Given the description of an element on the screen output the (x, y) to click on. 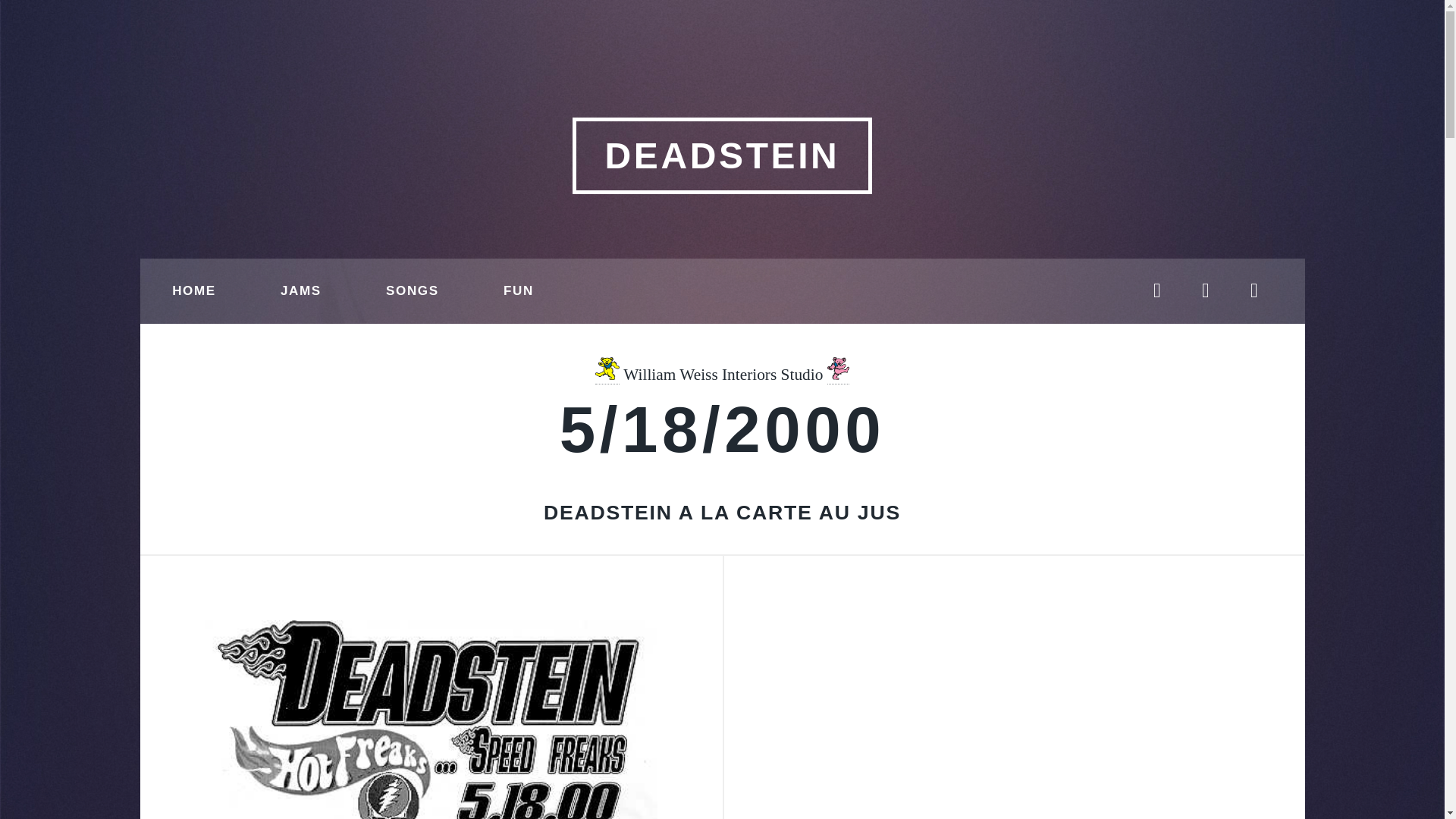
FUN (518, 290)
DEADSTEIN (721, 155)
JAMS (300, 290)
HOME (193, 290)
SONGS (411, 290)
